Given the description of an element on the screen output the (x, y) to click on. 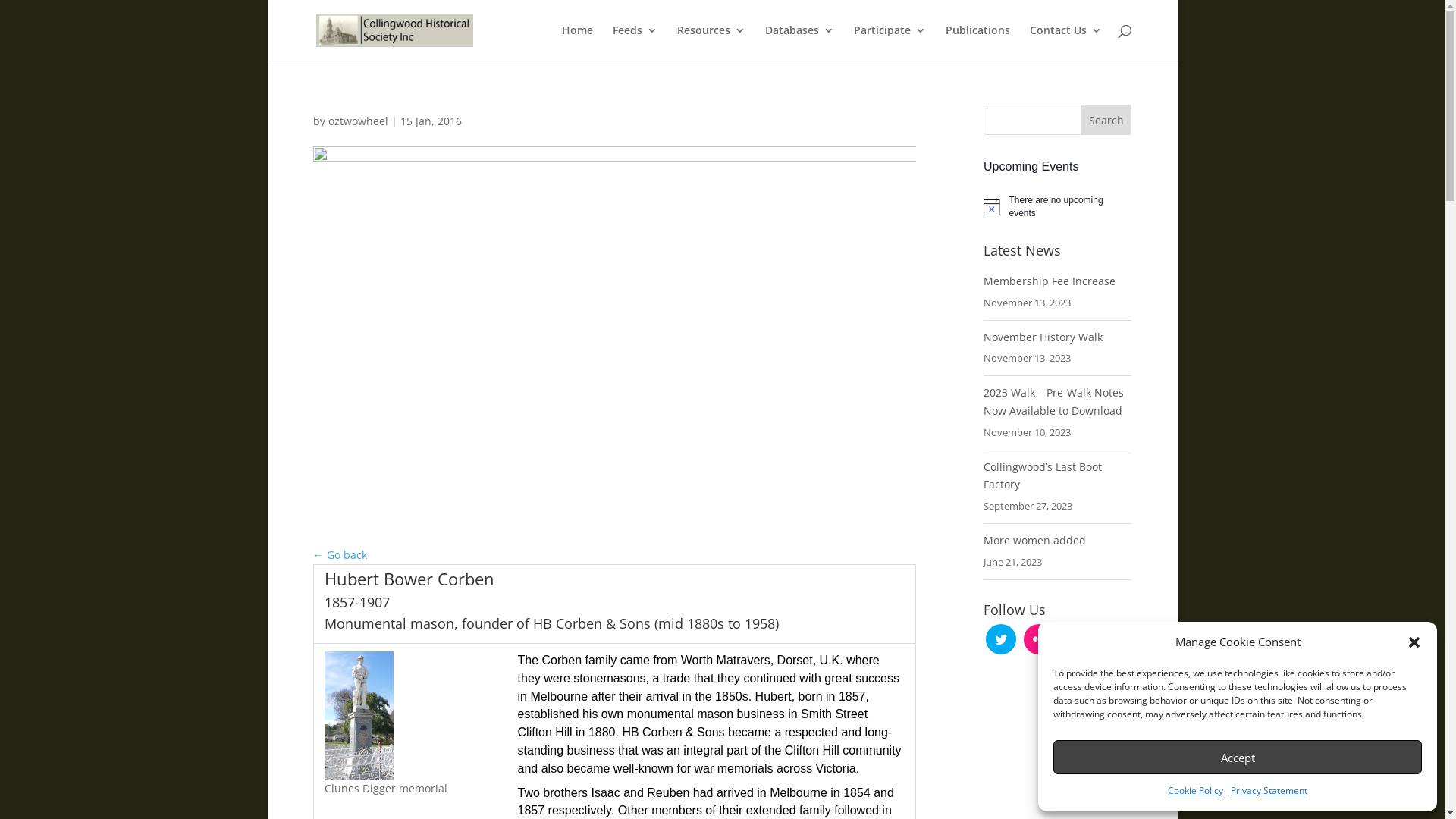
Accept Element type: text (1237, 757)
Home Element type: text (576, 42)
Databases Element type: text (798, 42)
Membership Fee Increase Element type: text (1049, 280)
More women added Element type: text (1034, 540)
Participate Element type: text (889, 42)
Feeds Element type: text (634, 42)
Search Element type: text (1106, 119)
Cookie Policy Element type: text (1195, 790)
oztwowheel Element type: text (357, 120)
Privacy Statement Element type: text (1268, 790)
Publications Element type: text (976, 42)
November History Walk Element type: text (1042, 336)
Resources Element type: text (710, 42)
Contact Us Element type: text (1065, 42)
